Given the description of an element on the screen output the (x, y) to click on. 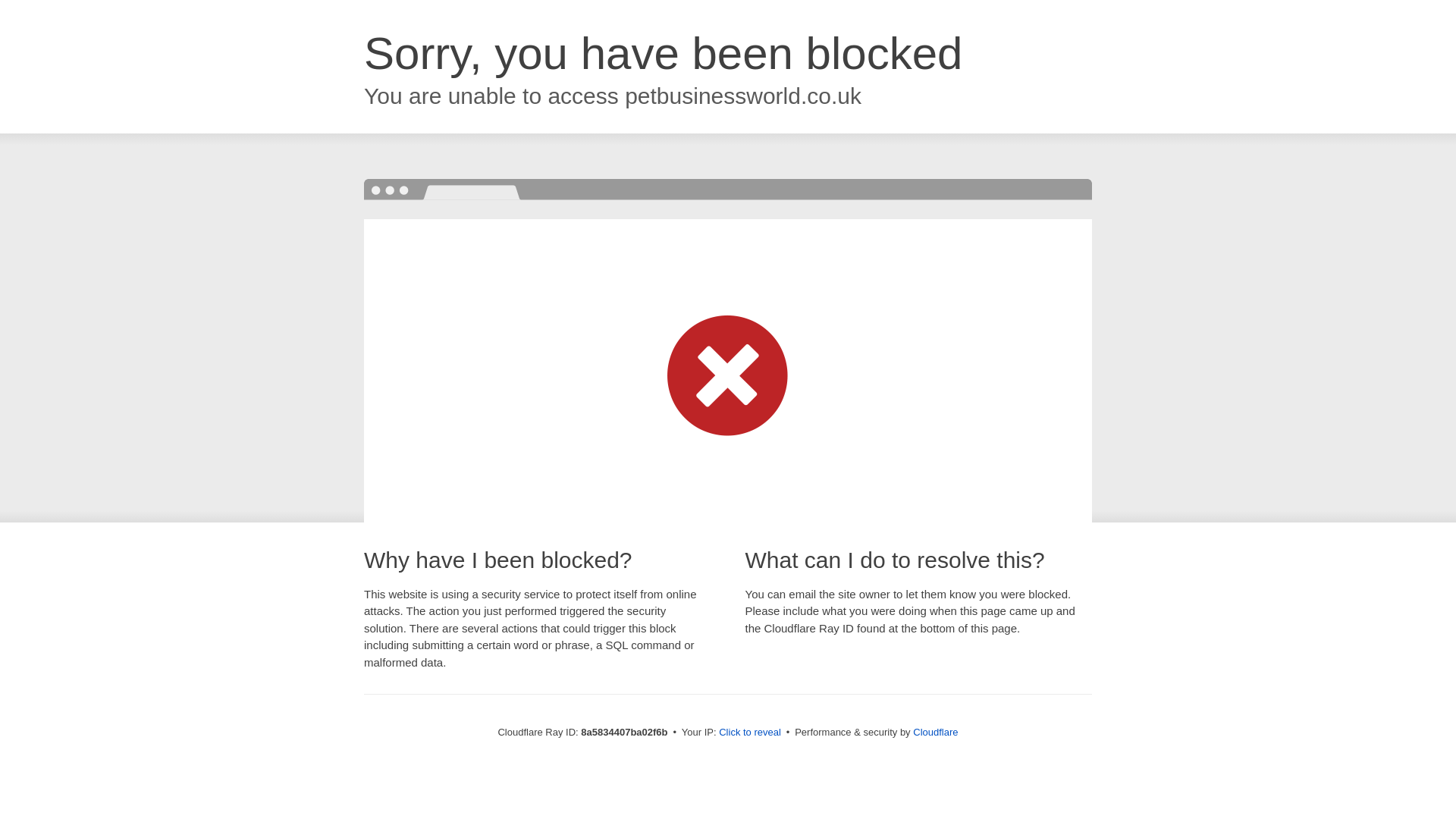
Cloudflare (935, 731)
Click to reveal (749, 732)
